Given the description of an element on the screen output the (x, y) to click on. 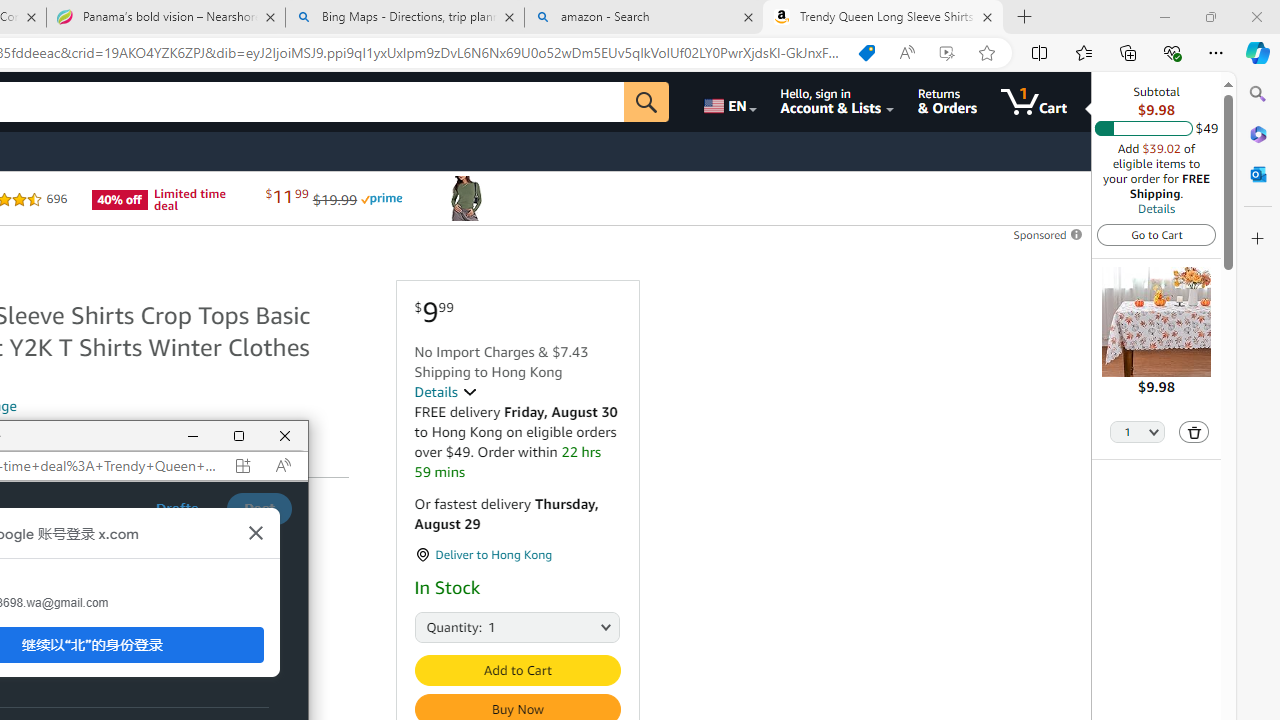
Delete (1194, 431)
Choose a language for shopping. (728, 101)
Details  (445, 391)
Prime (381, 198)
Drafts (177, 507)
Add to Cart (516, 669)
1 item in cart (1034, 101)
